Given the description of an element on the screen output the (x, y) to click on. 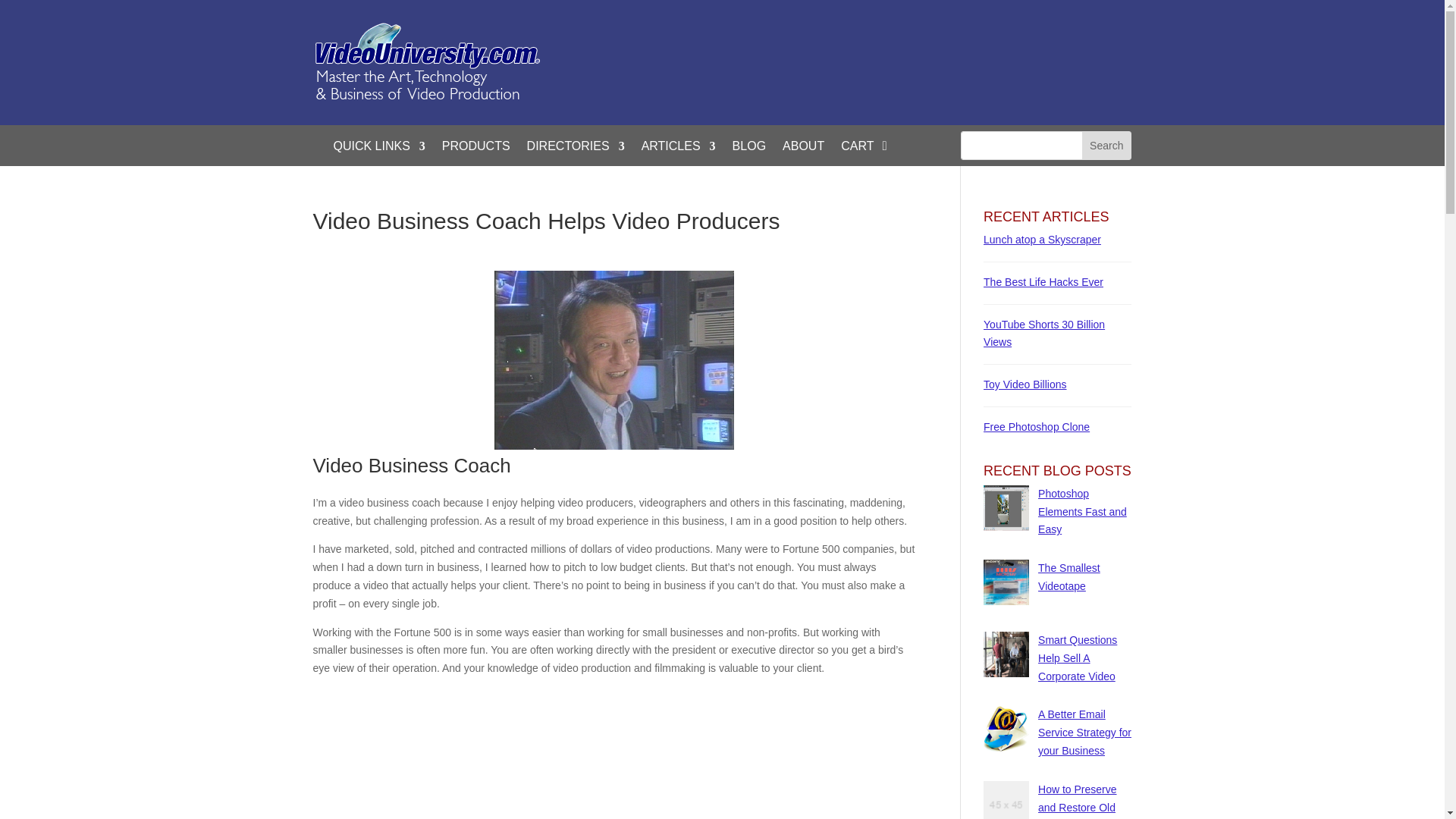
Search (1106, 144)
Advertisement (614, 753)
DIRECTORIES (575, 149)
QUICK LINKS (379, 149)
PRODUCTS (476, 149)
Advertisement (876, 54)
Search (1106, 144)
ARTICLES (679, 149)
vide-university300 (426, 62)
